Given the description of an element on the screen output the (x, y) to click on. 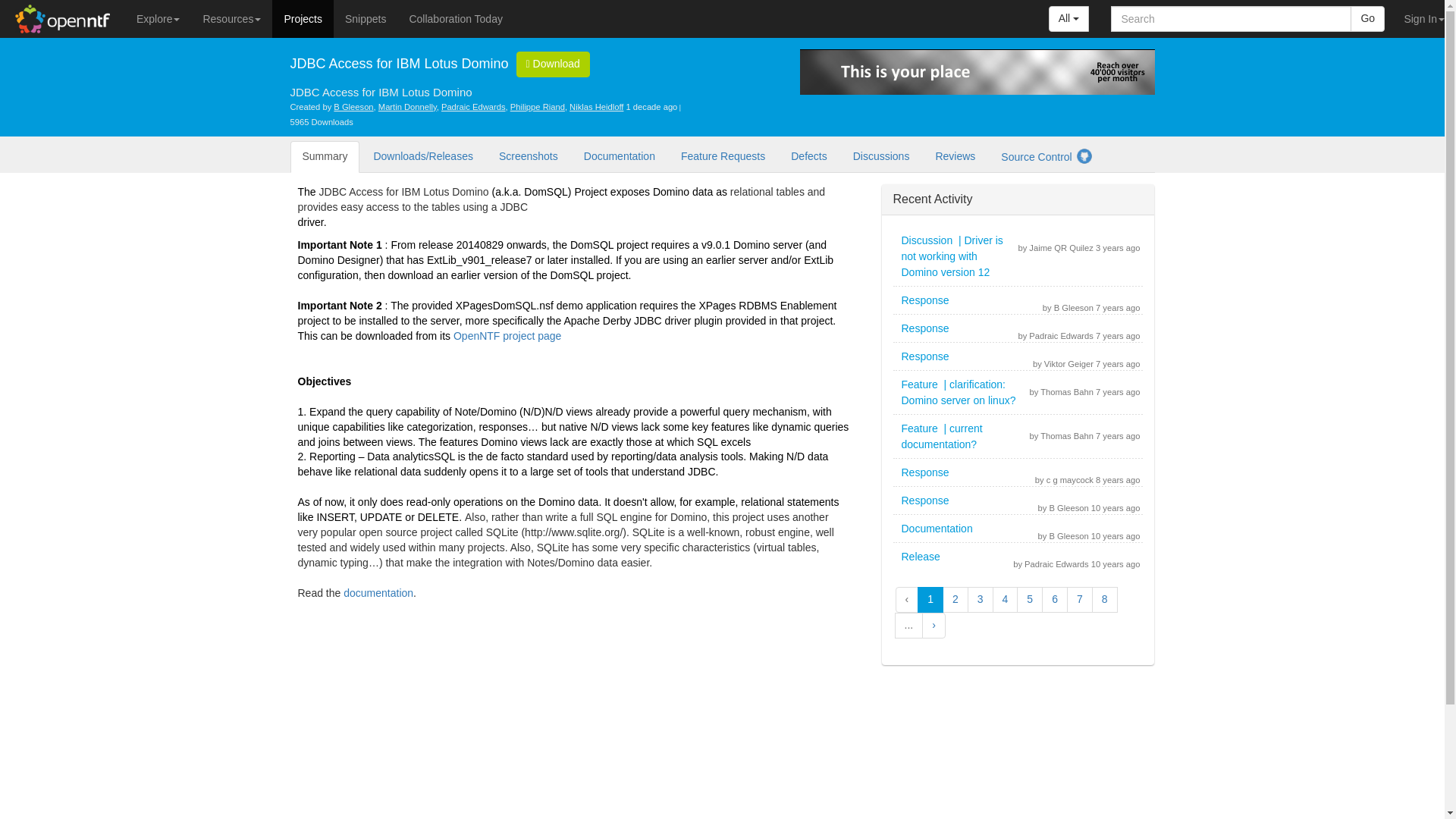
Explore (157, 18)
